Given the description of an element on the screen output the (x, y) to click on. 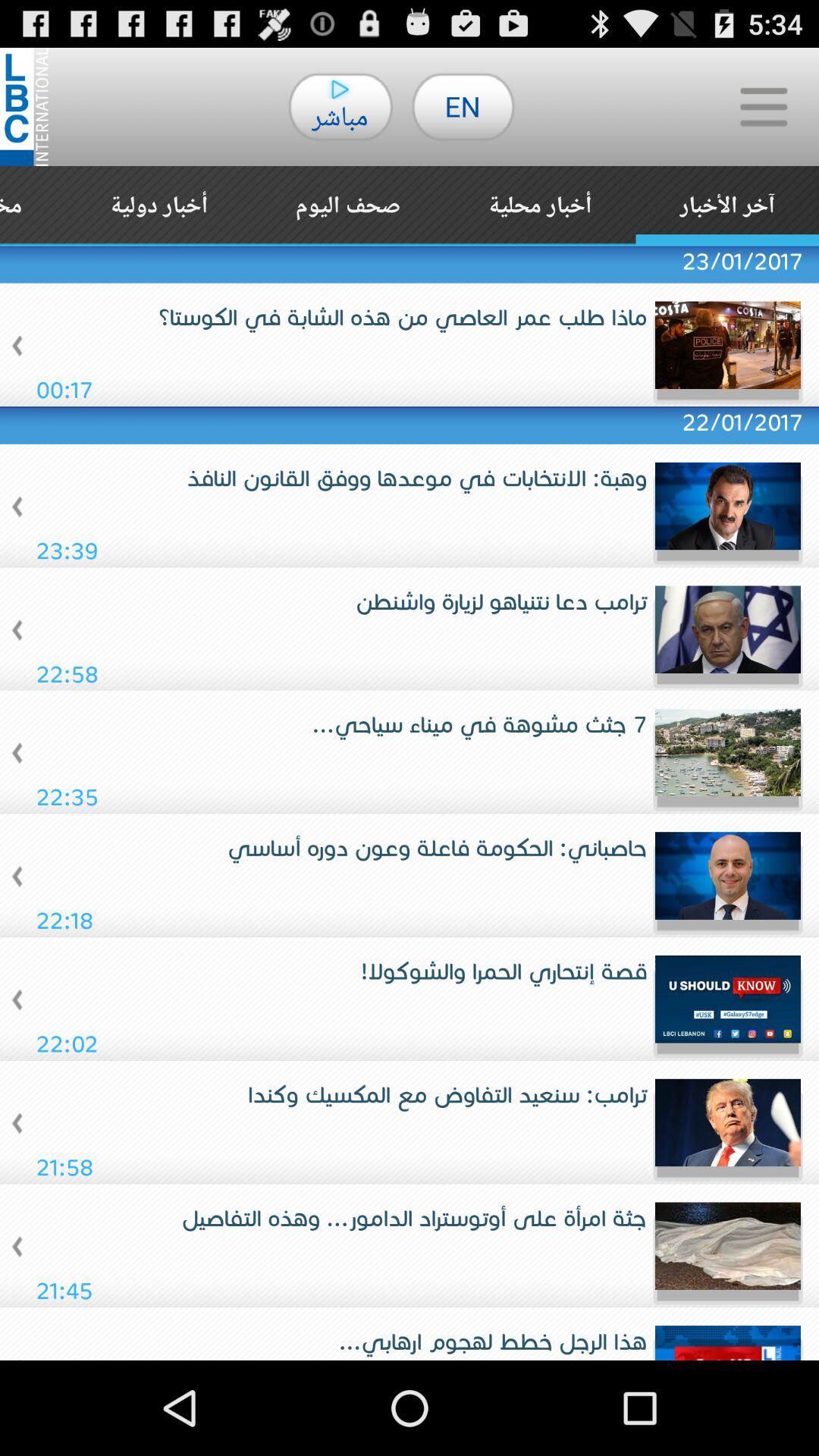
select icon to the right of en item (763, 106)
